Given the description of an element on the screen output the (x, y) to click on. 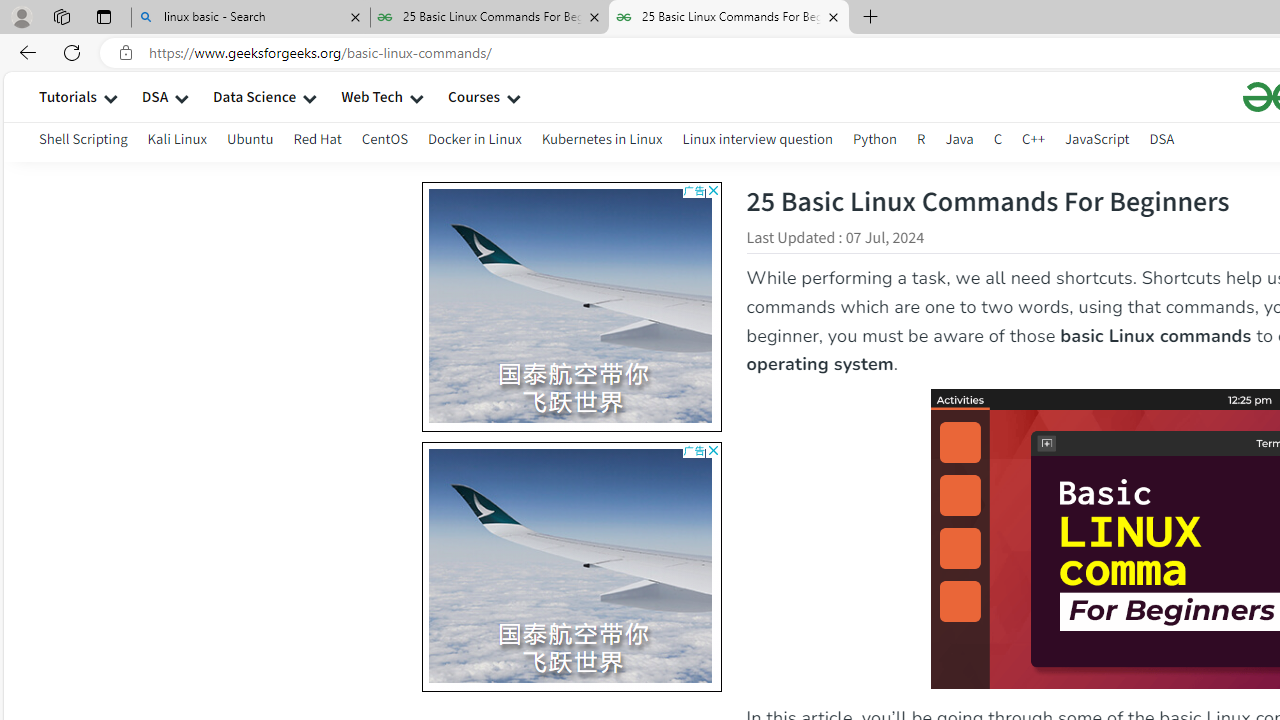
Java (959, 138)
AutomationID: gradient4 (856, 566)
Python (874, 142)
R (921, 138)
Docker in Linux (474, 138)
AutomationID: bg4 (856, 566)
Kali Linux (176, 142)
AutomationID: tag (571, 565)
Kali Linux (176, 138)
AutomationID: vapourBg (567, 565)
Web Tech (372, 96)
Linux interview question (757, 138)
C++ (1034, 142)
